Given the description of an element on the screen output the (x, y) to click on. 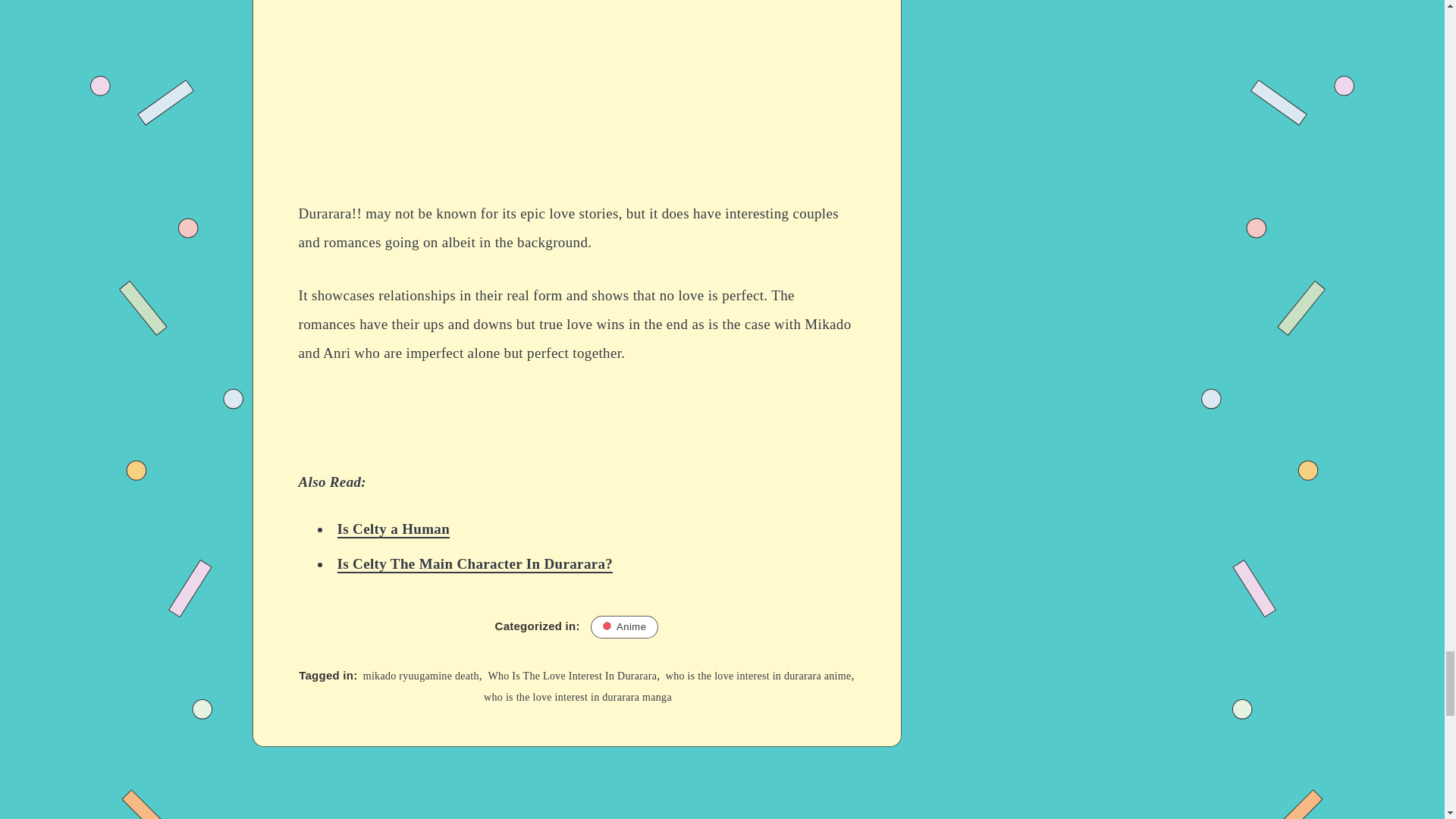
Anime (624, 626)
mikado ryuugamine death (420, 675)
who is the love interest in durarara anime (758, 675)
who is the love interest in durarara manga (577, 696)
Who Is The Love Interest In Durarara (571, 675)
Is Celty a Human (392, 529)
Is Celty The Main Character In Durarara? (474, 564)
